Given the description of an element on the screen output the (x, y) to click on. 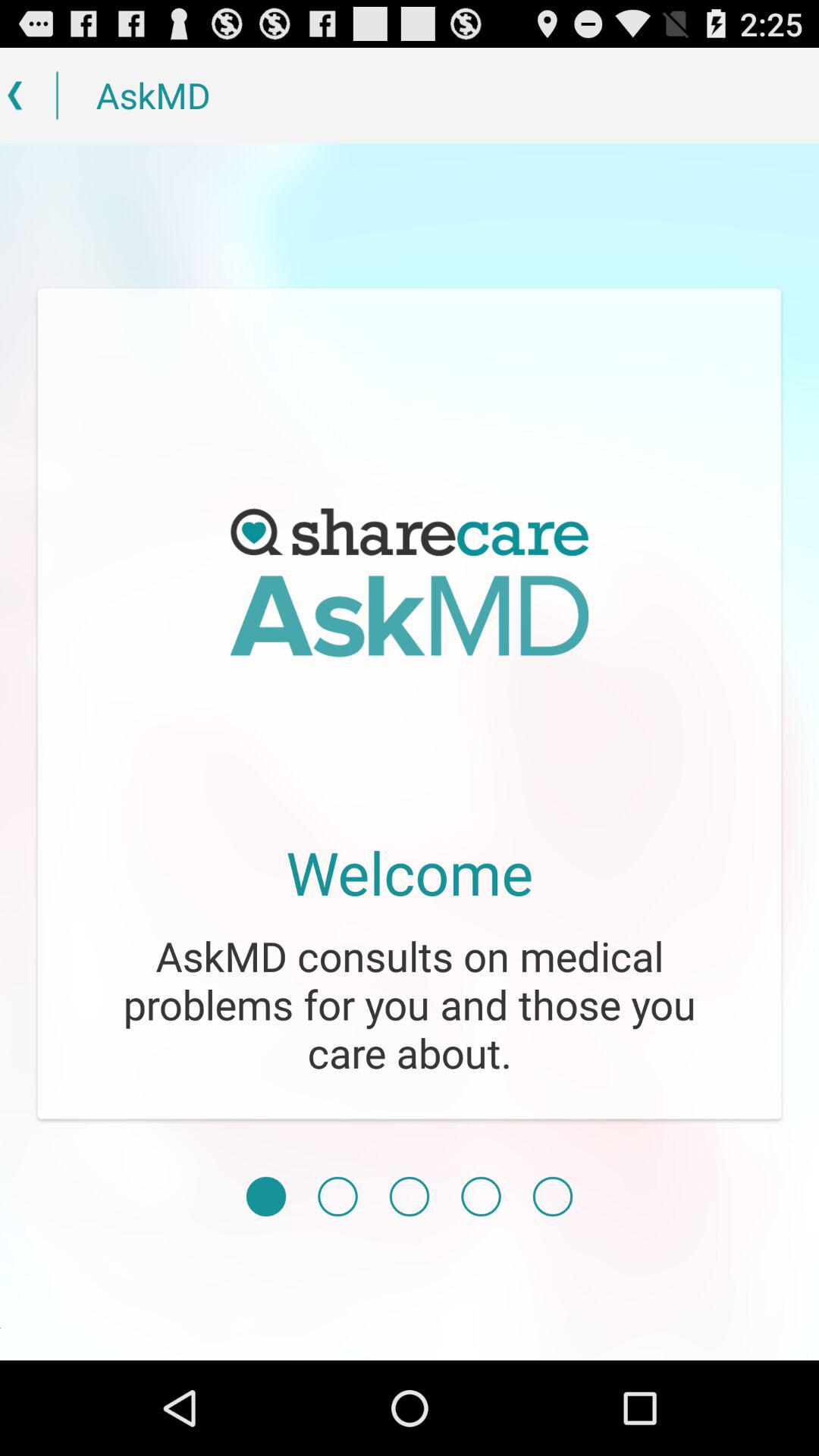
turn on the icon below the askmd consults on item (409, 1196)
